Given the description of an element on the screen output the (x, y) to click on. 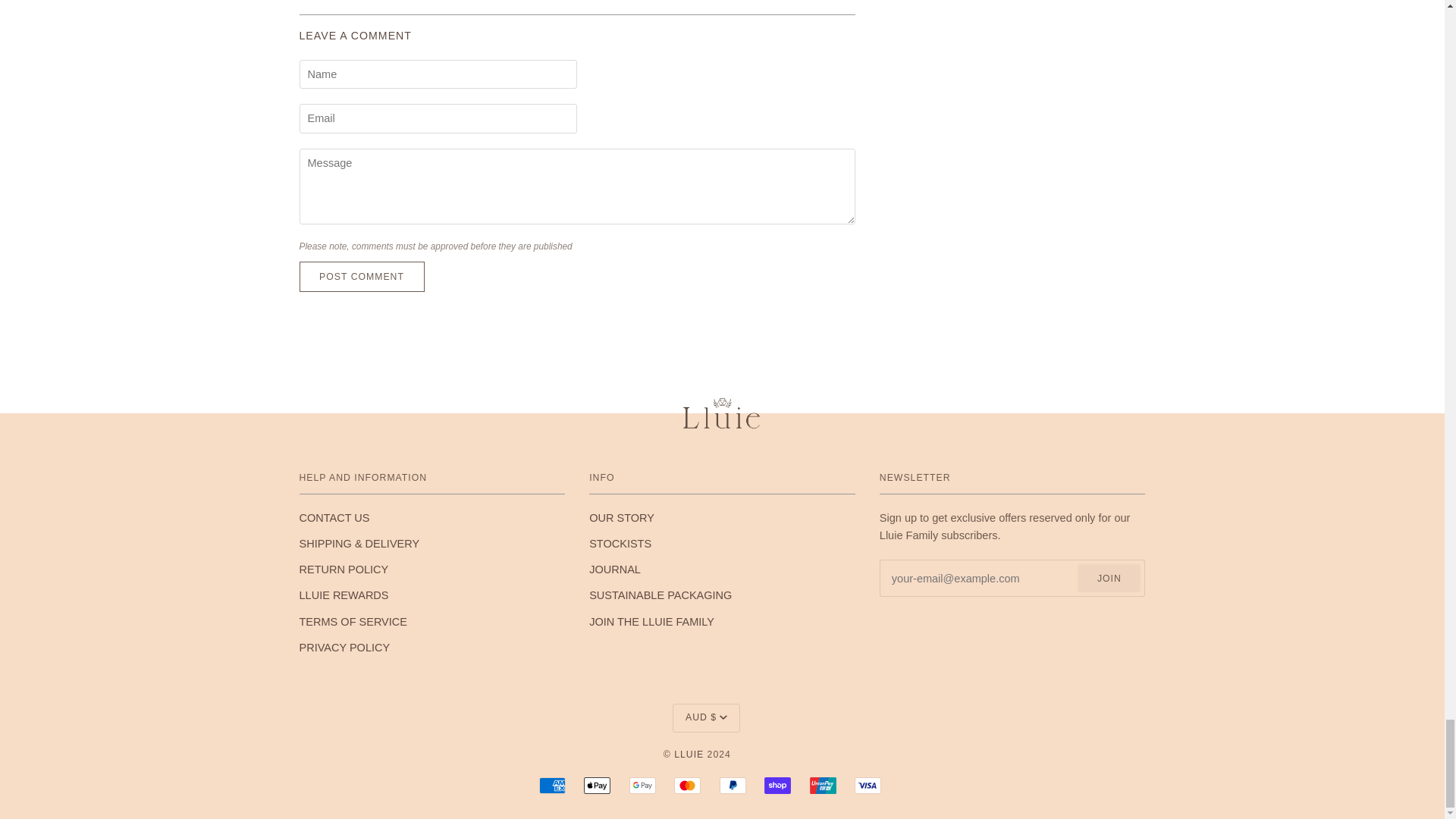
UNION PAY (822, 785)
VISA (867, 785)
APPLE PAY (596, 785)
GOOGLE PAY (642, 785)
SHOP PAY (777, 785)
PAYPAL (732, 785)
MASTERCARD (687, 785)
AMERICAN EXPRESS (552, 785)
